Given the description of an element on the screen output the (x, y) to click on. 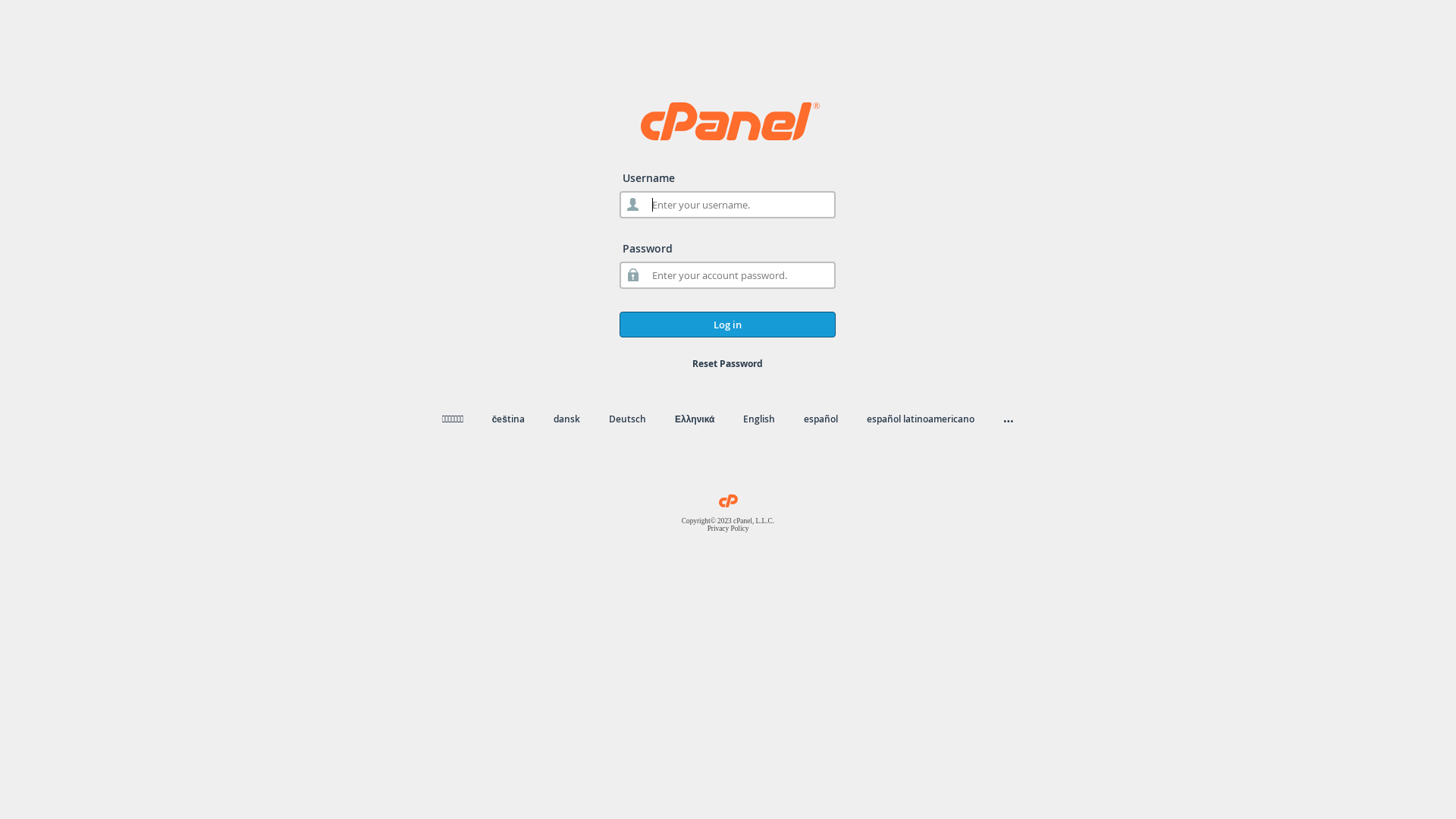
Enter Here Element type: text (558, 224)
Enter Here Element type: text (896, 224)
